Given the description of an element on the screen output the (x, y) to click on. 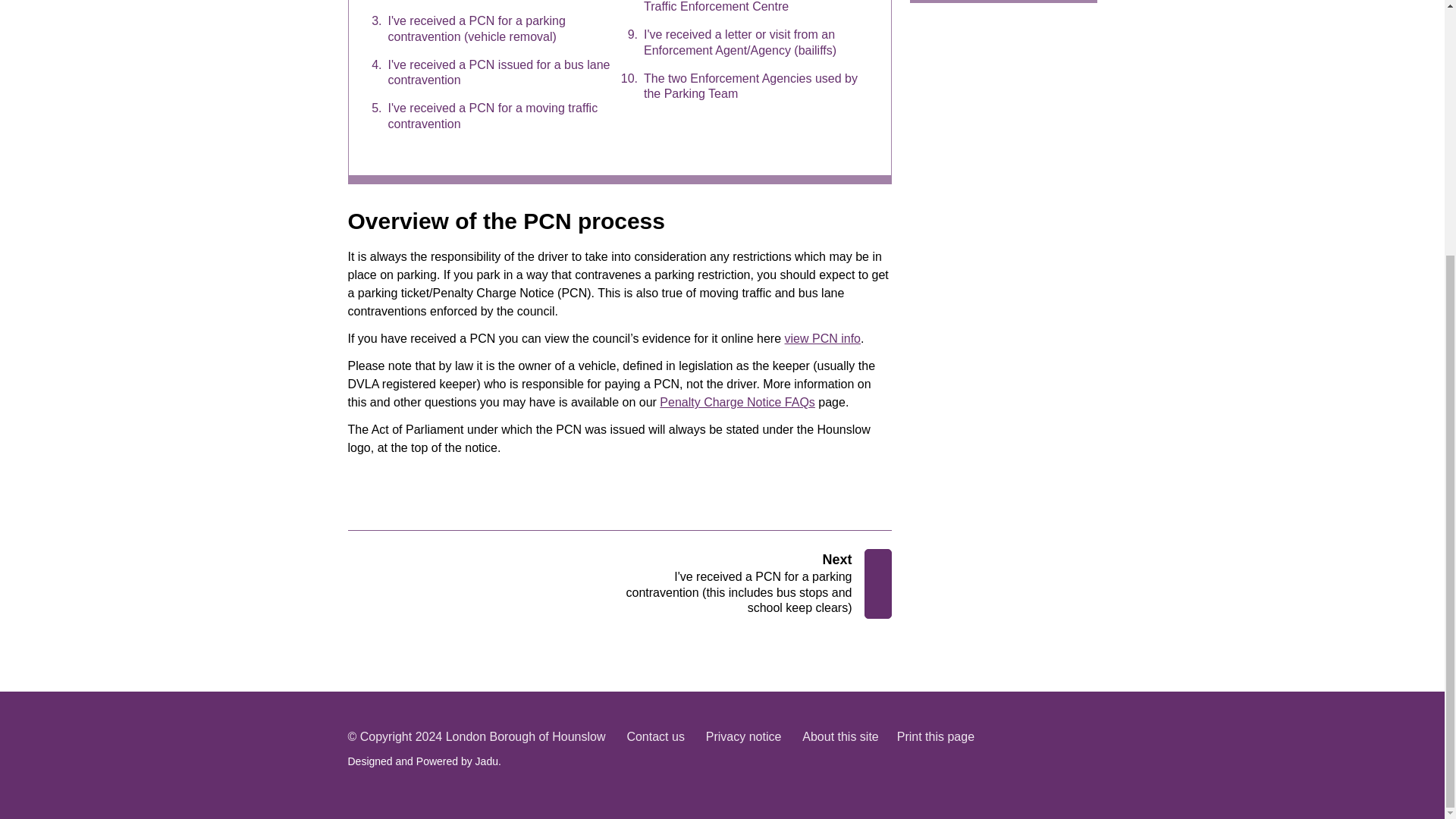
Facebook (1026, 748)
Contact us (655, 737)
Designed and Powered by Jadu. (423, 761)
Penalty Charge Notice FAQs (737, 401)
Print this page (935, 737)
Find us on Facebook (1026, 748)
The two Enforcement Agencies used by the Parking Team (739, 87)
Twitter (1075, 748)
I've received a PCN for a moving traffic contravention (484, 116)
I've received a PCN issued for a bus lane contravention (484, 73)
About this site (840, 737)
view PCN info (822, 338)
Follow us on Twitter (1075, 748)
Privacy notice (743, 737)
